Given the description of an element on the screen output the (x, y) to click on. 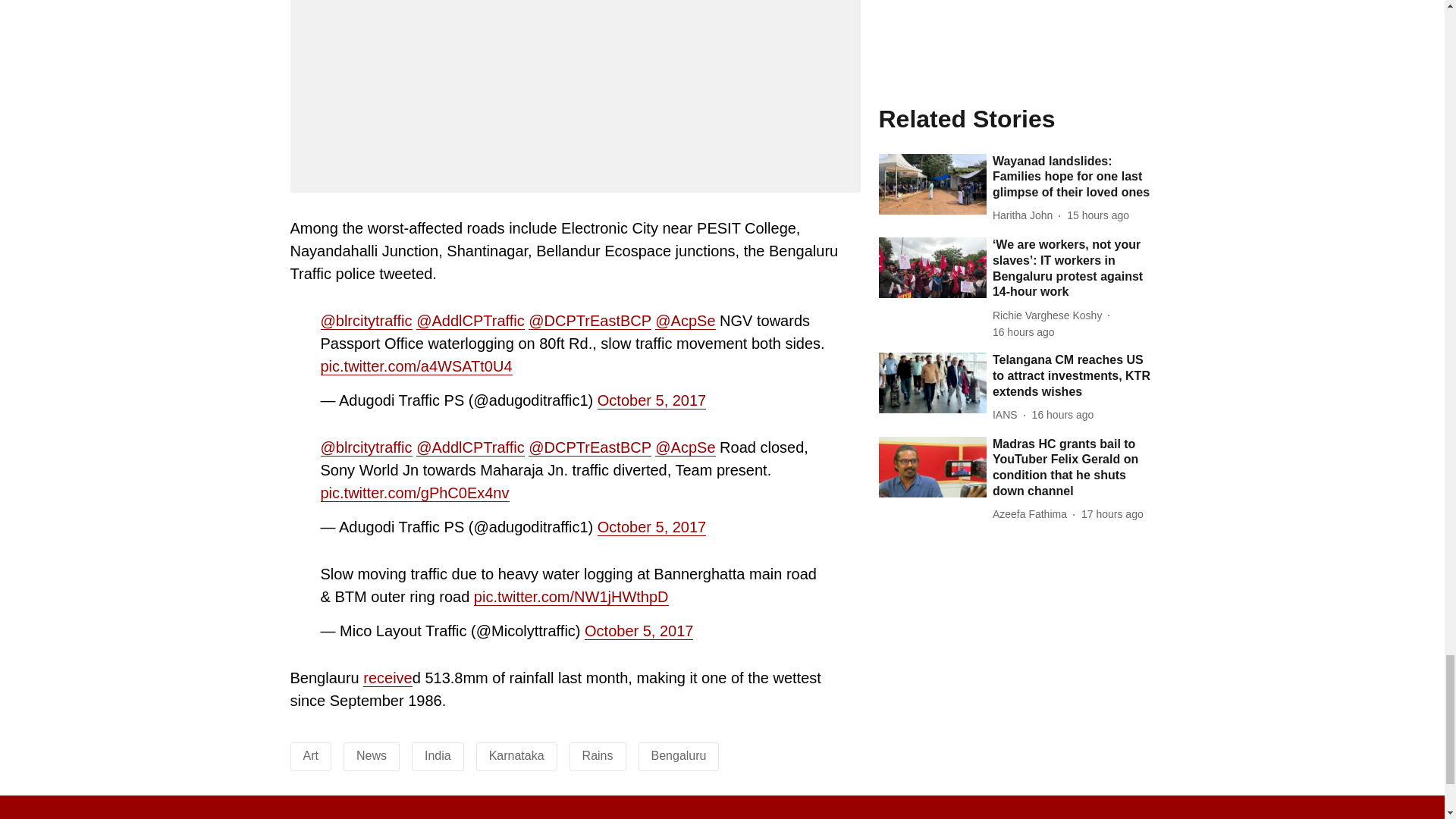
October 5, 2017 (639, 630)
October 5, 2017 (651, 527)
October 5, 2017 (651, 400)
receive (387, 678)
Art (310, 755)
News (371, 755)
